Given the description of an element on the screen output the (x, y) to click on. 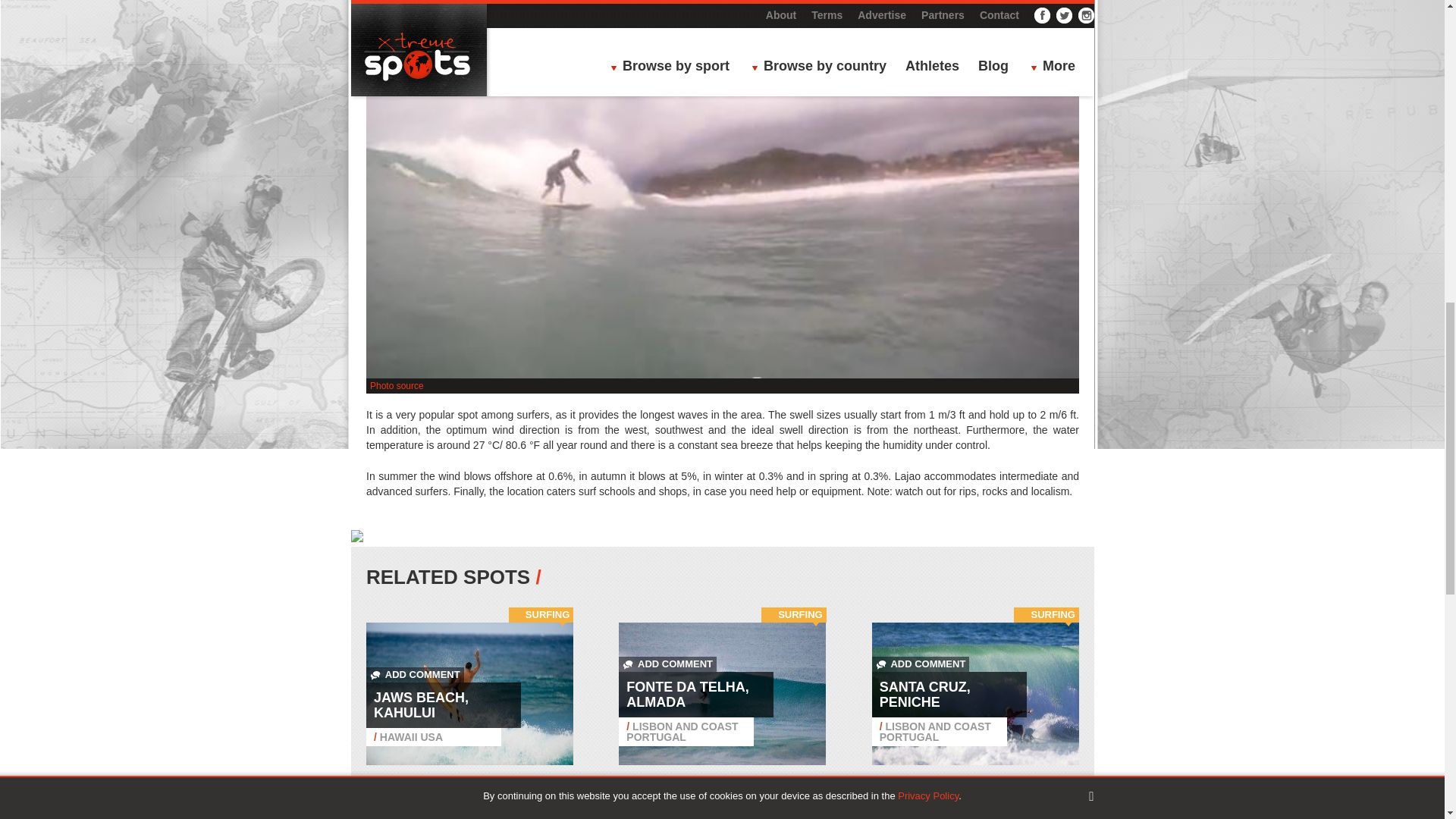
  ADD COMMENT (415, 674)
JAWS BEACH, KAHULUI (421, 705)
Photo source (396, 385)
SURFING (547, 614)
